Given the description of an element on the screen output the (x, y) to click on. 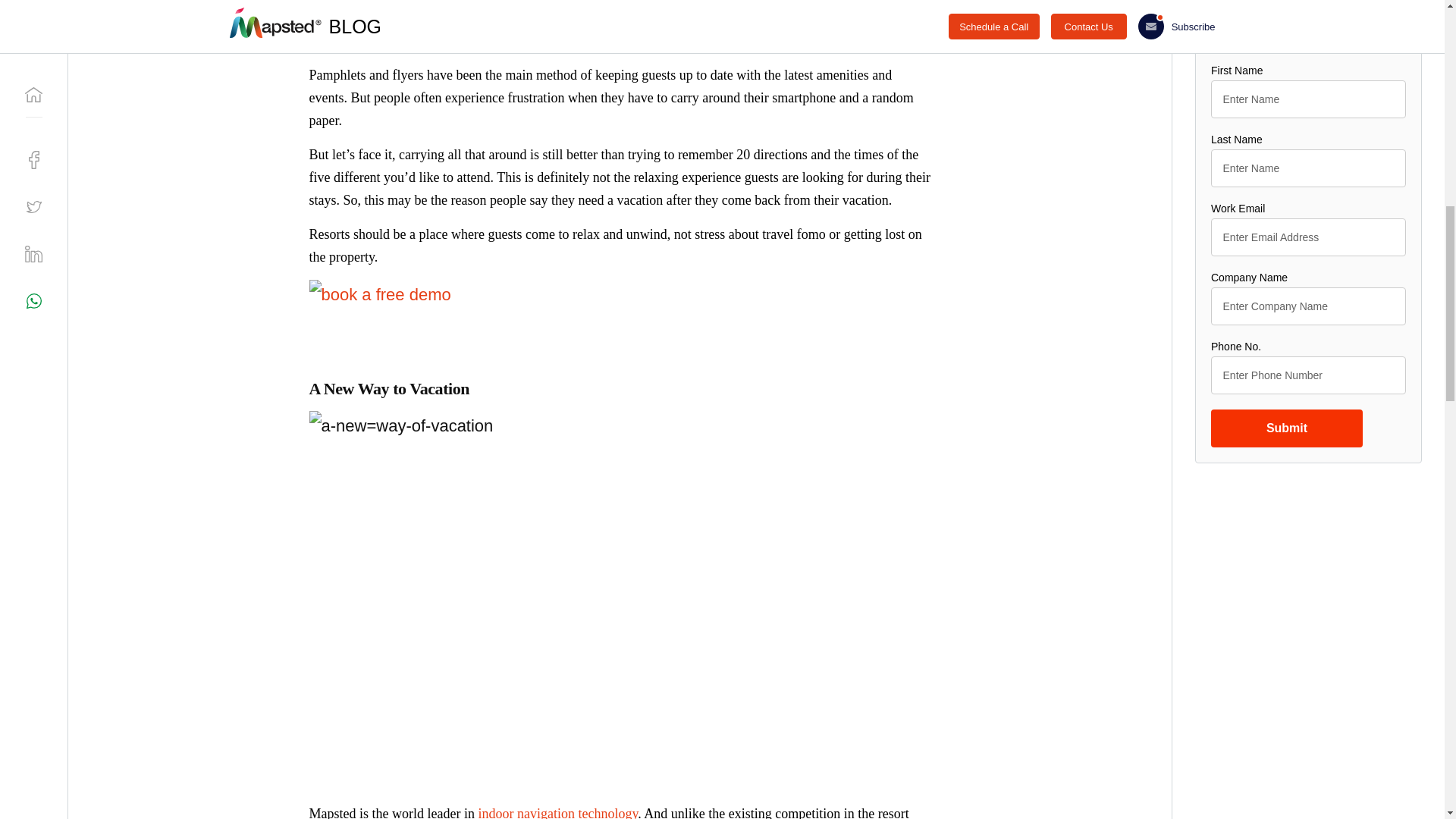
indoor navigation technology (557, 812)
